Given the description of an element on the screen output the (x, y) to click on. 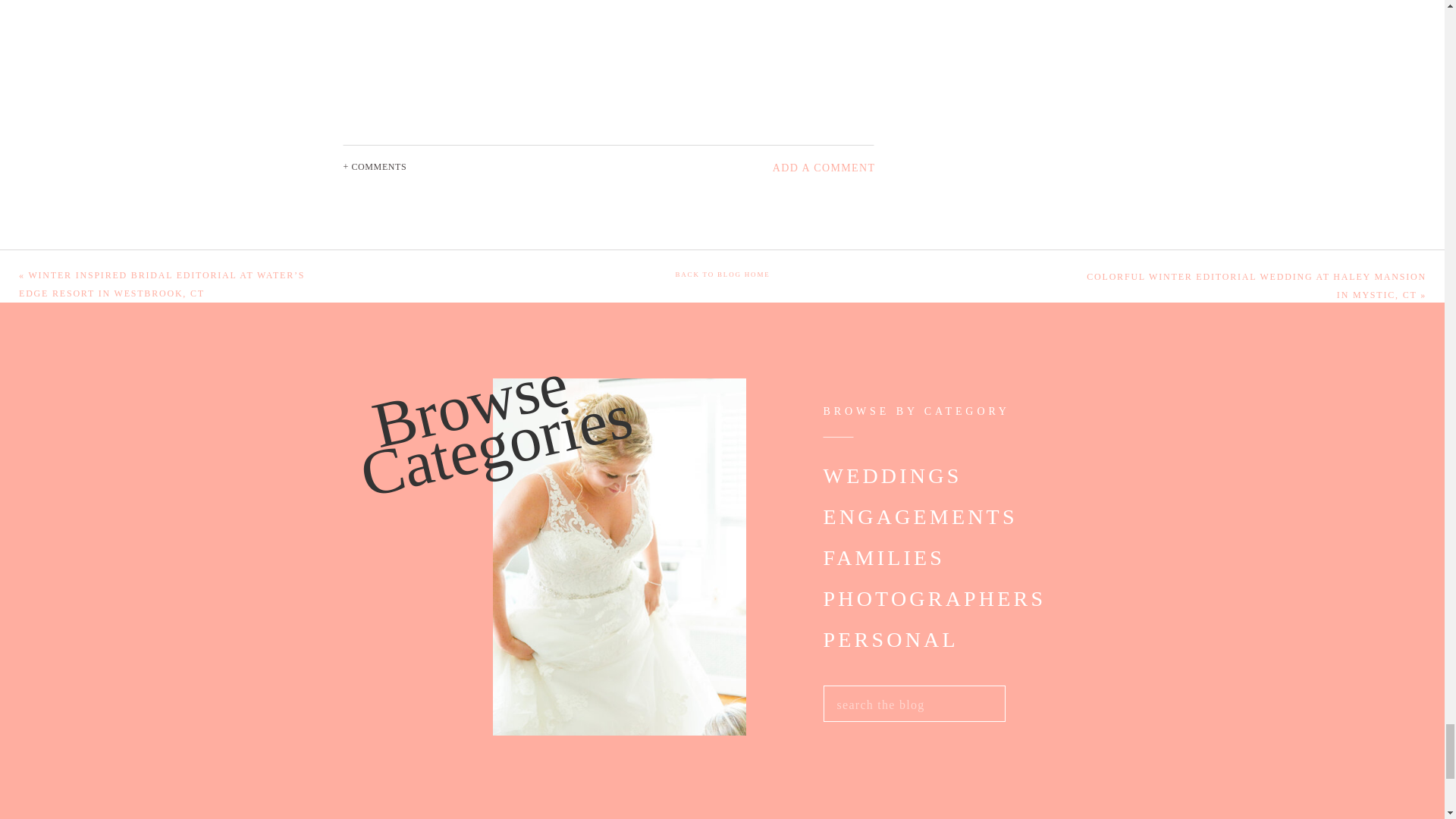
ENGAGEMENTS (927, 518)
ADD A COMMENT (776, 167)
BACK TO BLOG HOME (722, 276)
WEDDINGS (892, 478)
